Given the description of an element on the screen output the (x, y) to click on. 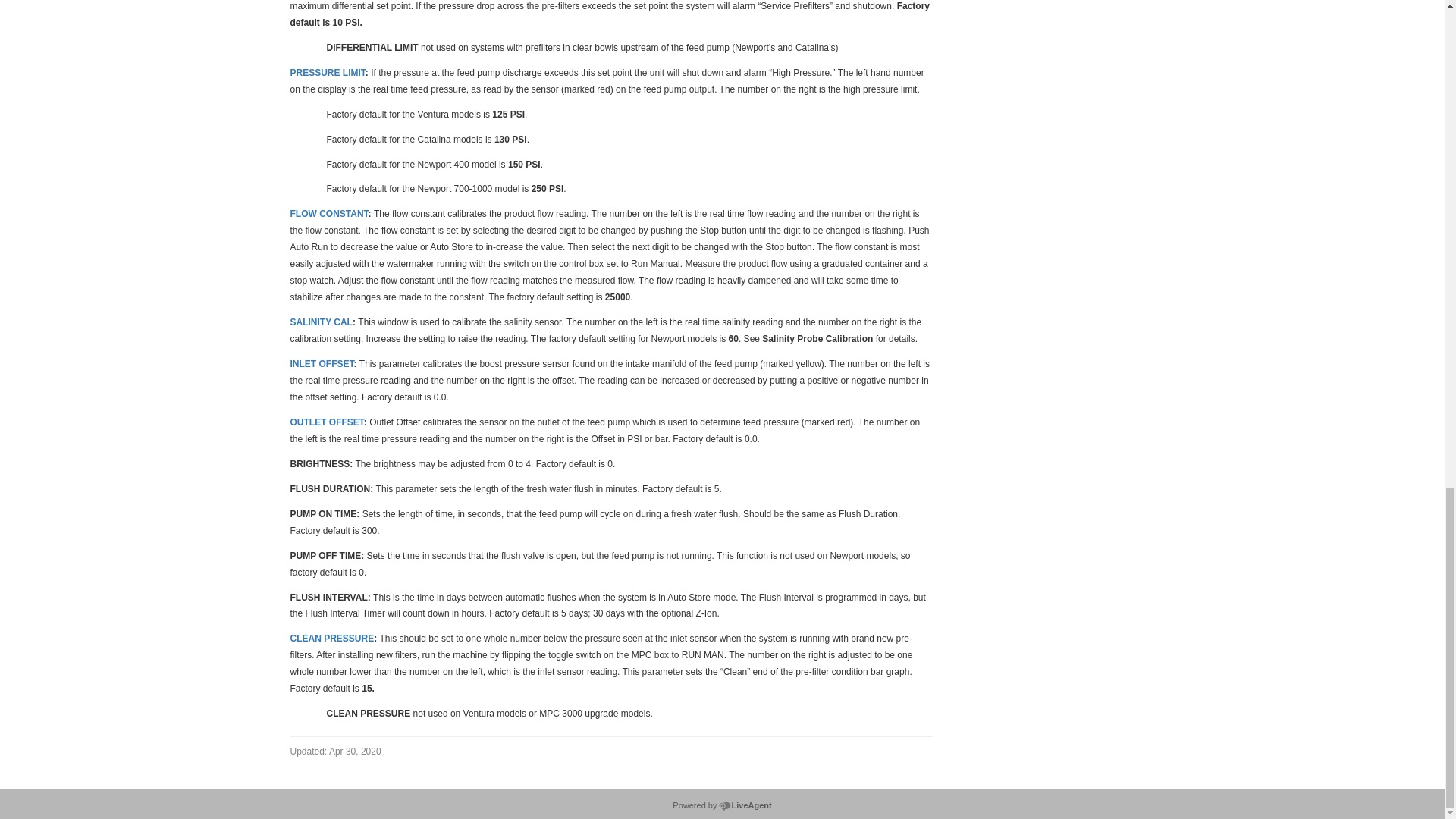
OUTLET OFFSET (325, 421)
SALINITY CAL (320, 321)
FLOW CONSTANT (328, 213)
Apr 30, 2020, 10:00 AM (334, 751)
CLEAN PRESSURE (331, 637)
LiveAgent (745, 804)
INLET OFFSET (321, 363)
PRESSURE LIMIT (327, 71)
